Given the description of an element on the screen output the (x, y) to click on. 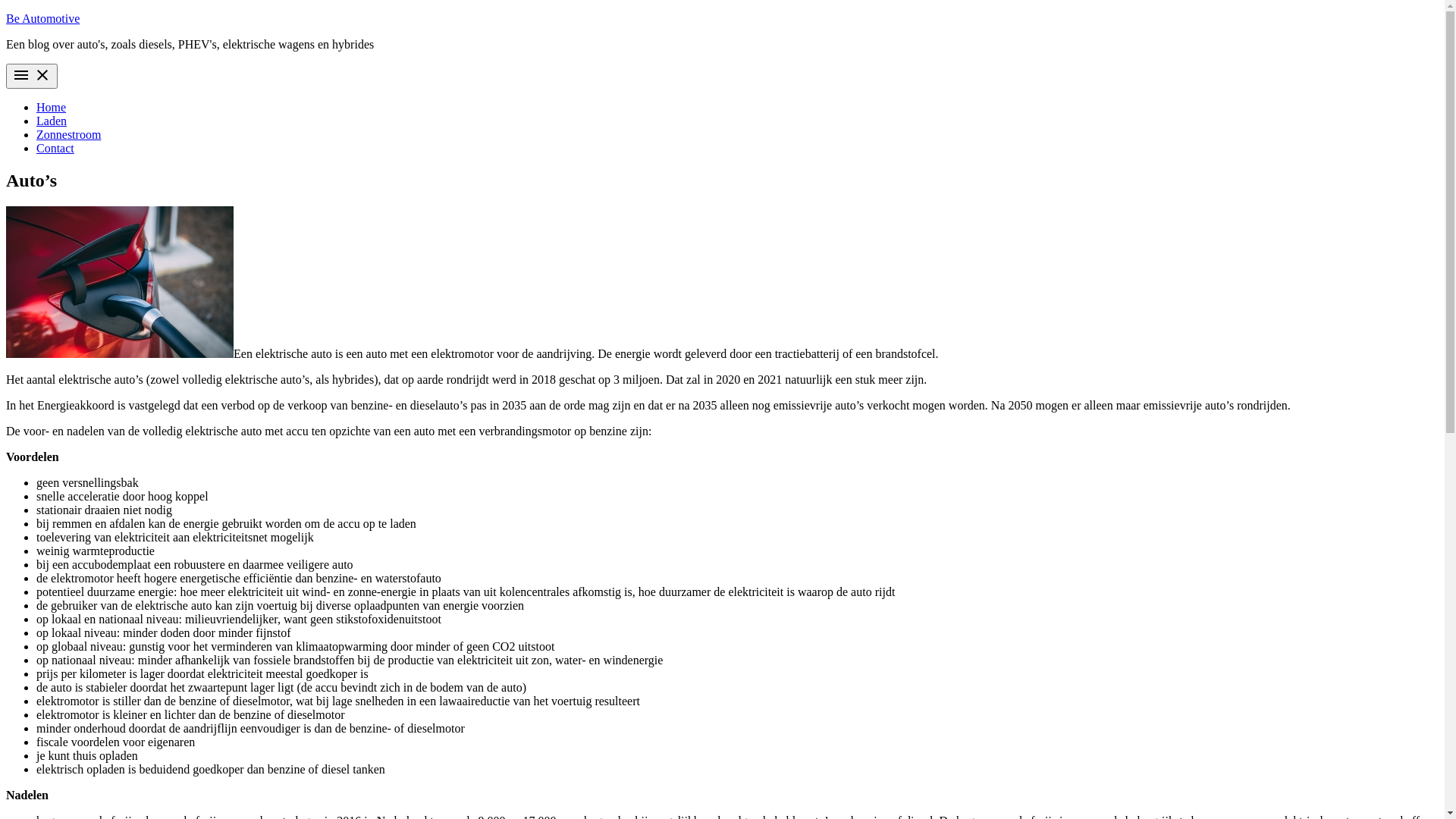
Laden Element type: text (51, 120)
Skip to content Element type: text (5, 11)
menu close Element type: text (31, 75)
Contact Element type: text (55, 147)
Be Automotive Element type: text (42, 18)
Home Element type: text (50, 106)
Zonnestroom Element type: text (68, 134)
